Given the description of an element on the screen output the (x, y) to click on. 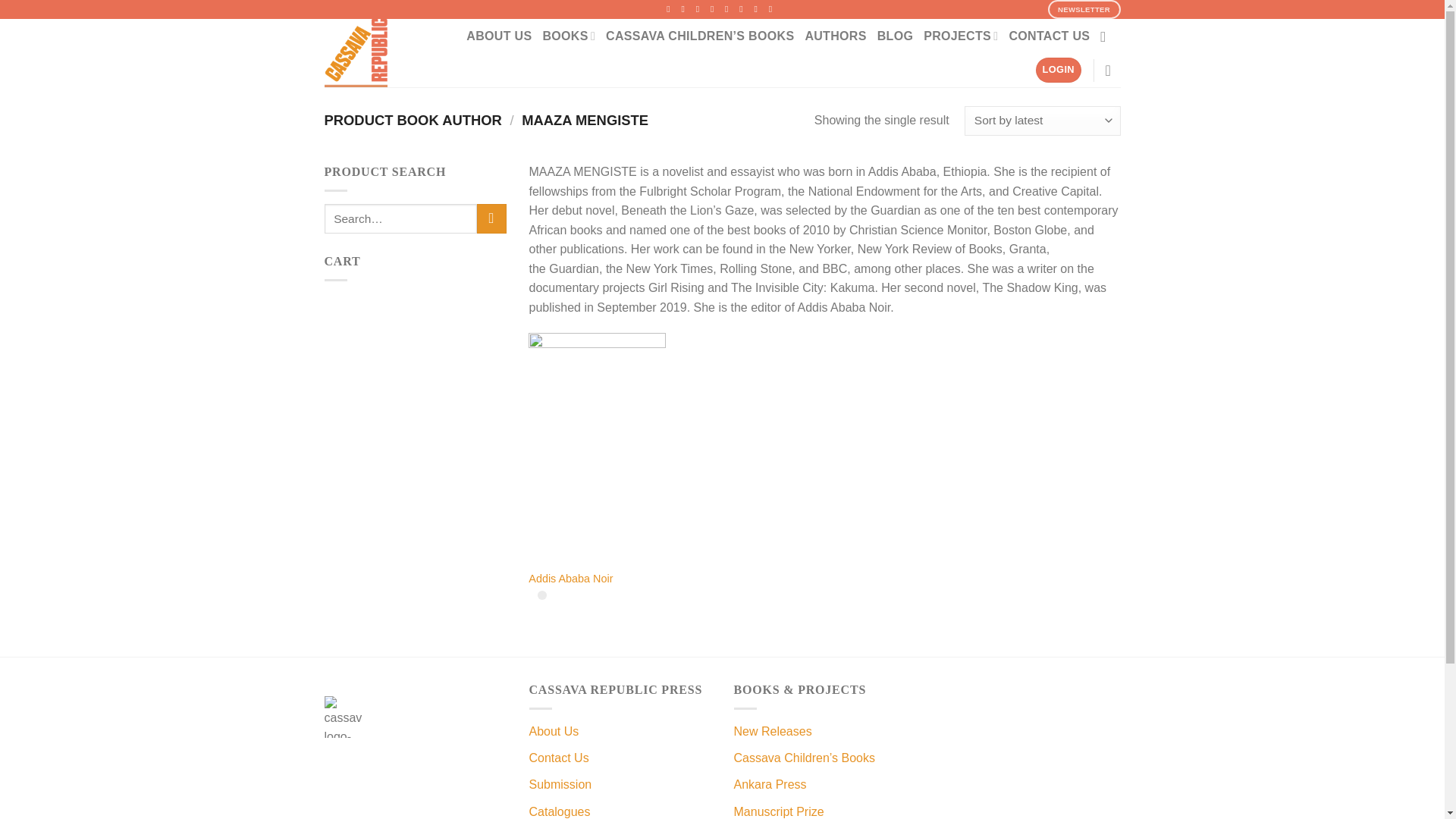
BOOKS (568, 36)
CONTACT US (1049, 36)
NEWSLETTER (1084, 9)
ABOUT US (498, 36)
AUTHORS (835, 36)
BLOG (895, 36)
PROJECTS (960, 36)
